Given the description of an element on the screen output the (x, y) to click on. 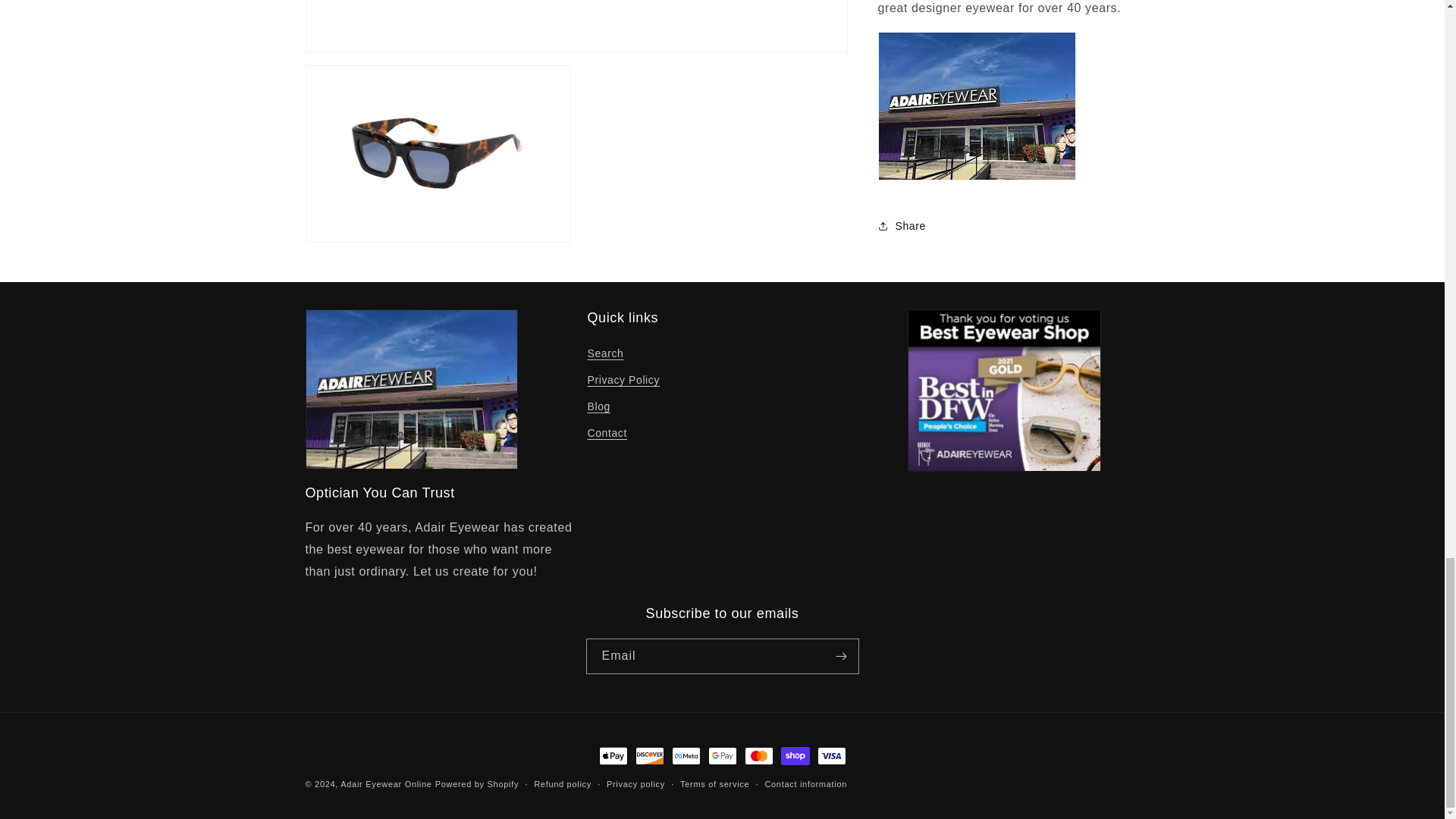
Blog (598, 406)
Search (604, 354)
Adair Eyewear Online (385, 783)
Privacy Policy (622, 379)
Contact (606, 433)
Powered by Shopify (476, 783)
